Given the description of an element on the screen output the (x, y) to click on. 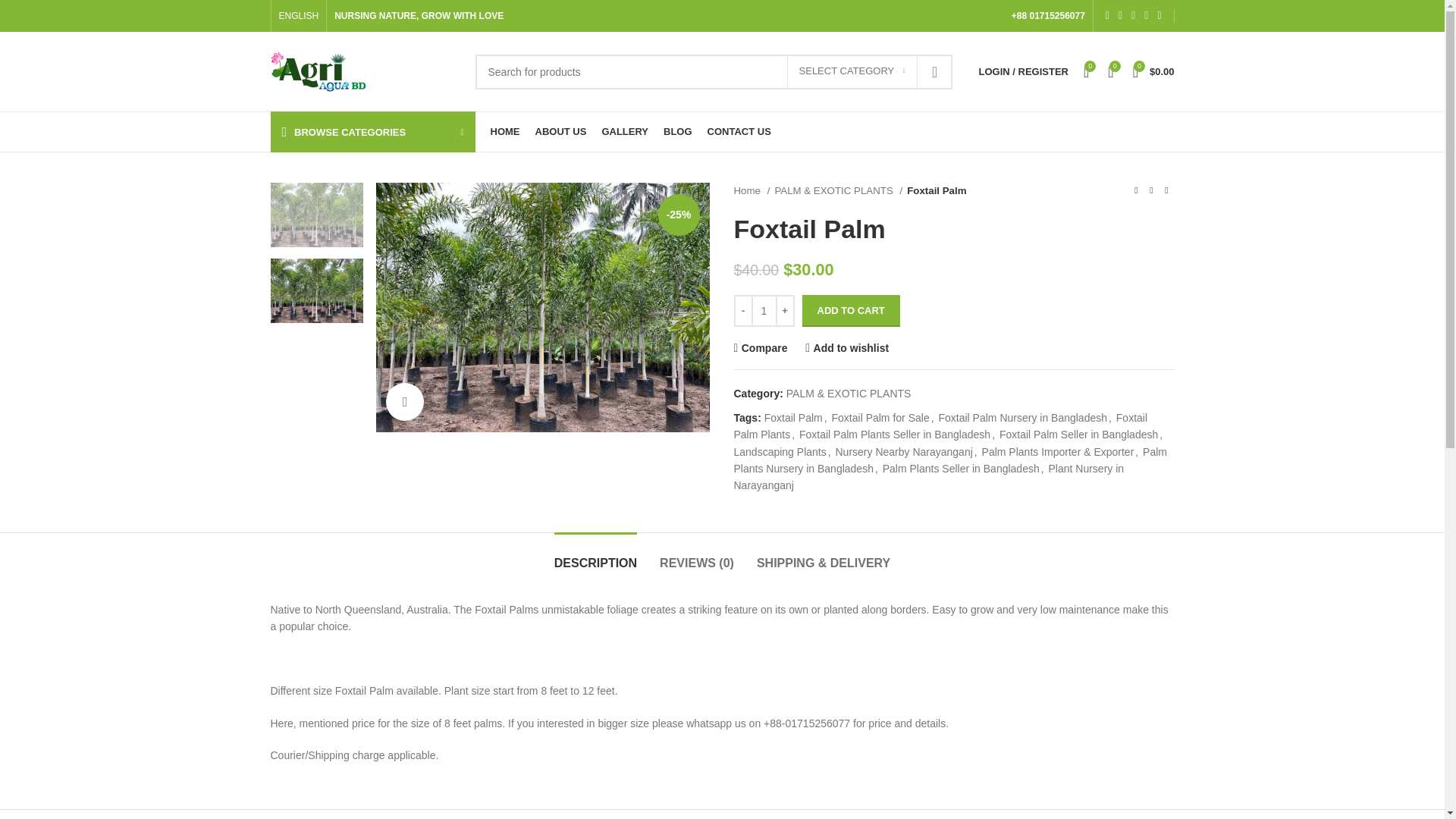
My account (1023, 71)
Shopping cart (1153, 71)
ENGLISH (298, 15)
Search for products (713, 71)
SEARCH (934, 71)
Wodyetia-Bifurcata-Foxtail-Palm-Wody-Palm-Agri-Aqua-Bd (542, 307)
GALLERY (624, 132)
SELECT CATEGORY (852, 71)
HOME (504, 132)
BLOG (678, 132)
SELECT CATEGORY (852, 71)
ABOUT US (560, 132)
